Given the description of an element on the screen output the (x, y) to click on. 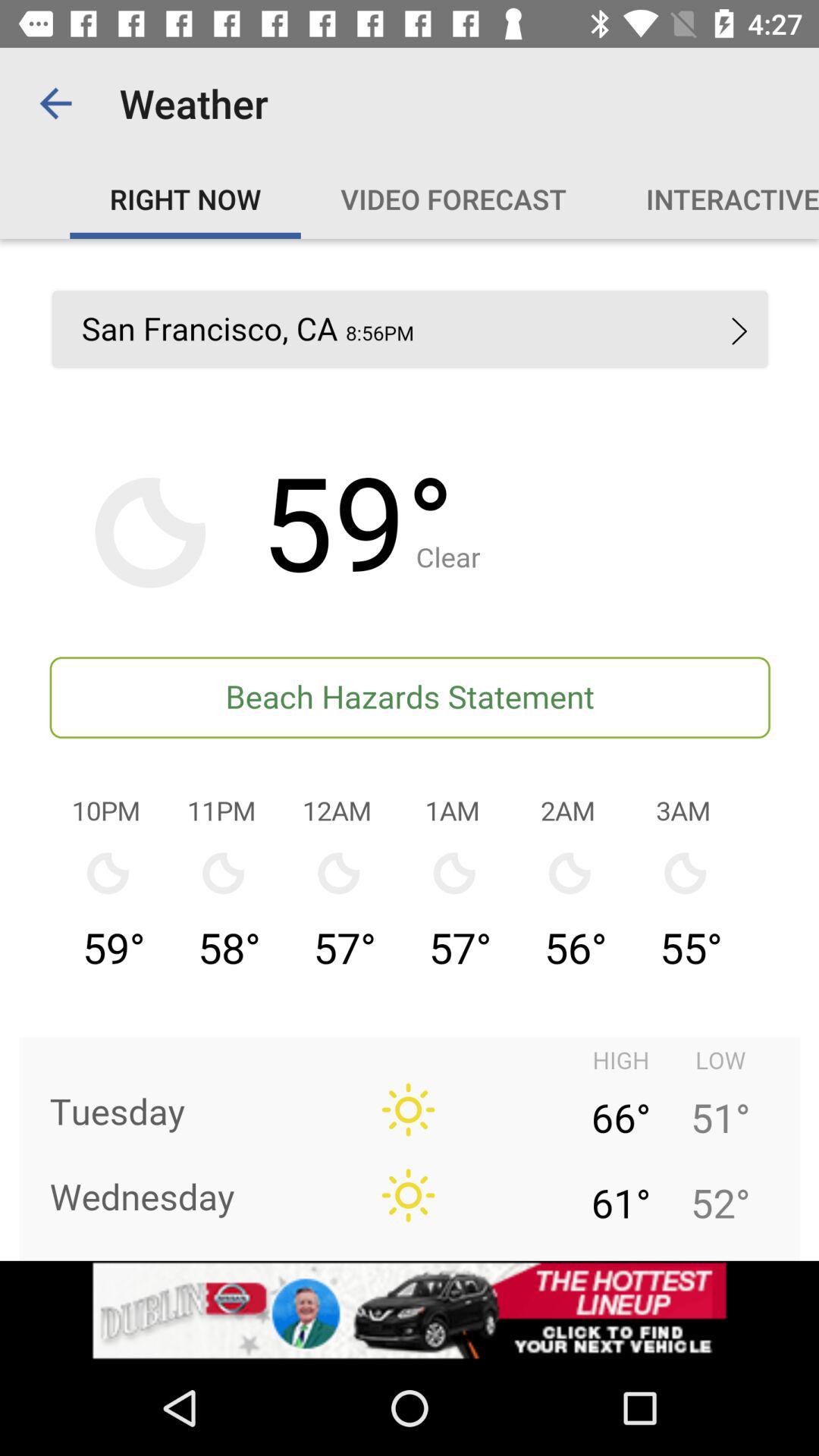
view current temperature (409, 749)
